Given the description of an element on the screen output the (x, y) to click on. 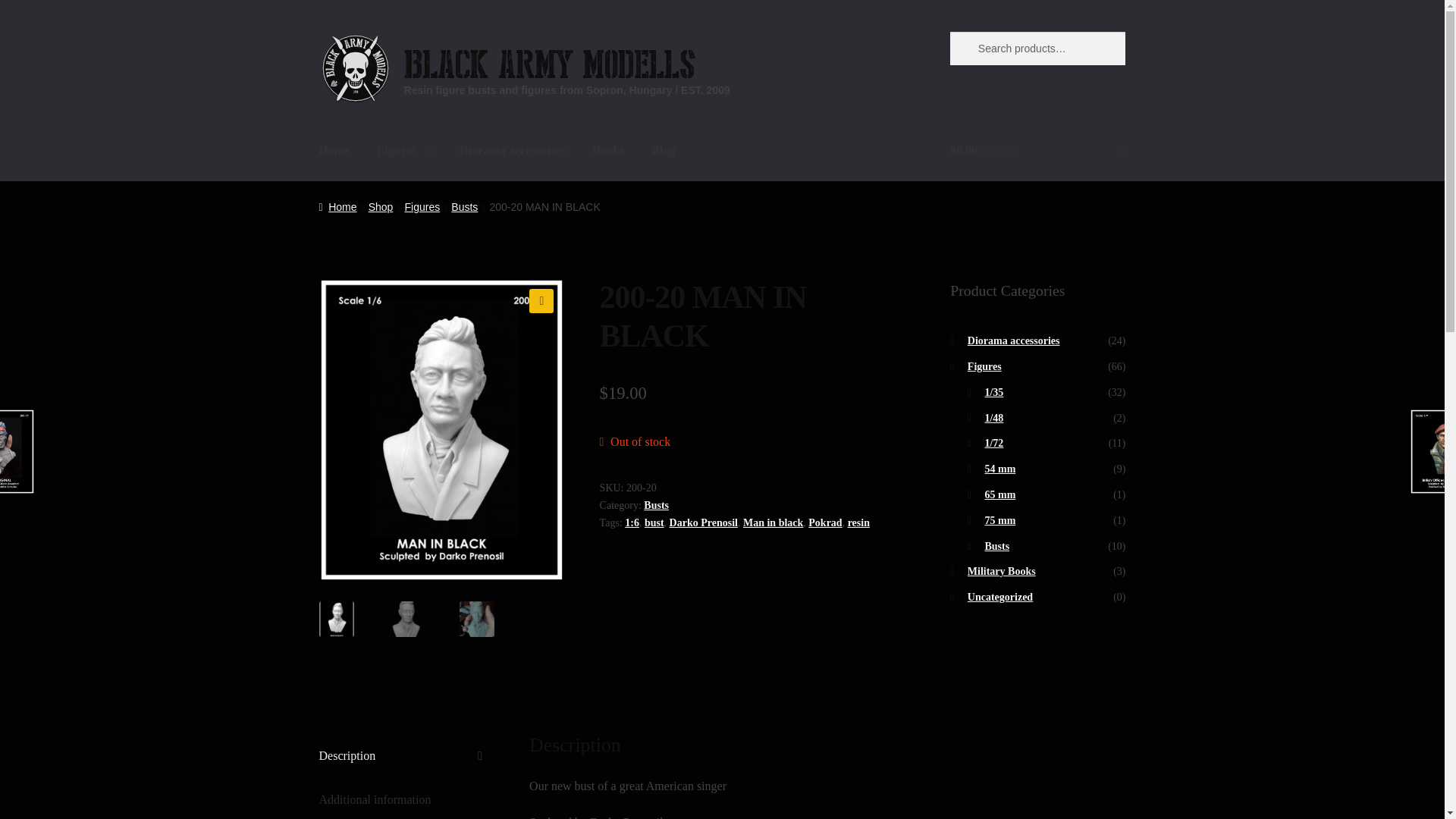
1:6 (631, 522)
Diorama accessories (511, 151)
Books (608, 151)
Figures (404, 151)
Figures (422, 206)
Home (334, 151)
Home (337, 206)
Black Army Modells (549, 63)
